Given the description of an element on the screen output the (x, y) to click on. 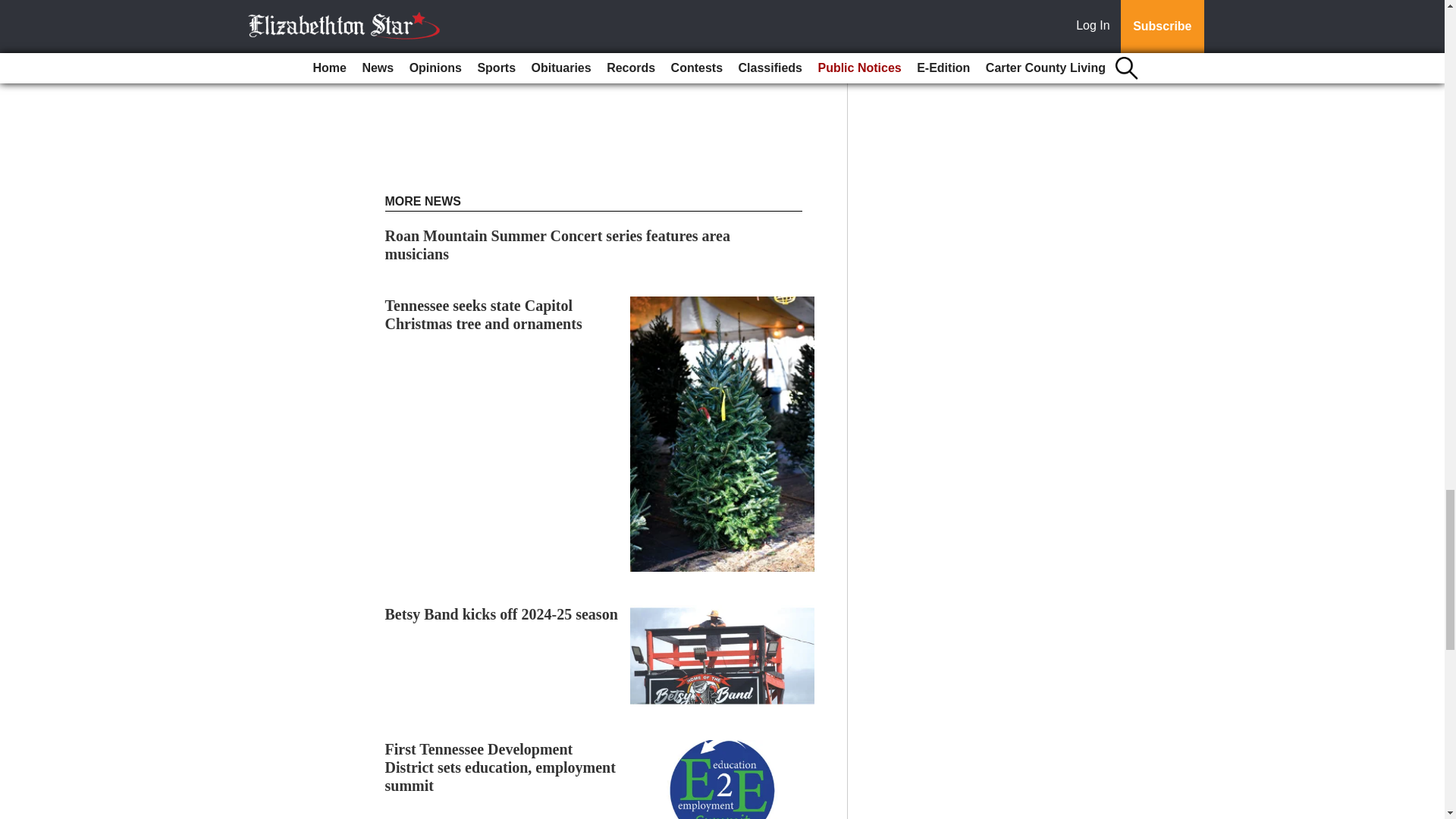
Roan Mountain Summer Concert series features area musicians (557, 244)
Betsy Band kicks off 2024-25 season (501, 614)
Betsy Band kicks off 2024-25 season (501, 614)
Tennessee seeks state Capitol Christmas tree and ornaments (483, 314)
Roan Mountain Summer Concert series features area musicians (557, 244)
Tennessee seeks state Capitol Christmas tree and ornaments (483, 314)
